Given the description of an element on the screen output the (x, y) to click on. 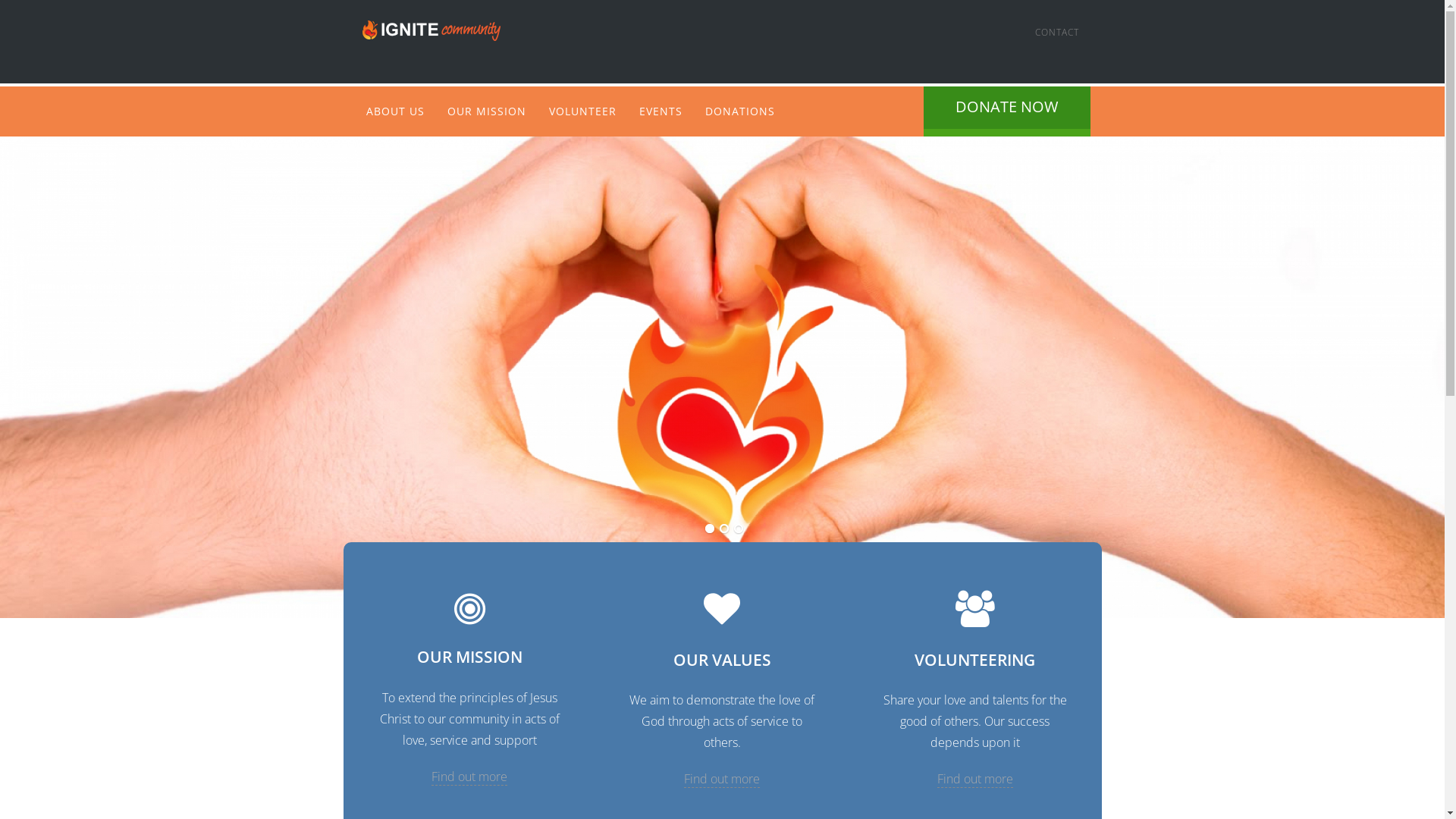
EVENTS Element type: text (660, 111)
Find out more Element type: text (721, 778)
Find out more Element type: text (975, 778)
OUR MISSION Element type: text (485, 111)
DONATE NOW Element type: text (1006, 111)
CONTACT Element type: text (1056, 32)
VOLUNTEER Element type: text (581, 111)
DONATIONS Element type: text (739, 111)
Find out more Element type: text (469, 776)
ABOUT US Element type: text (395, 111)
